Given the description of an element on the screen output the (x, y) to click on. 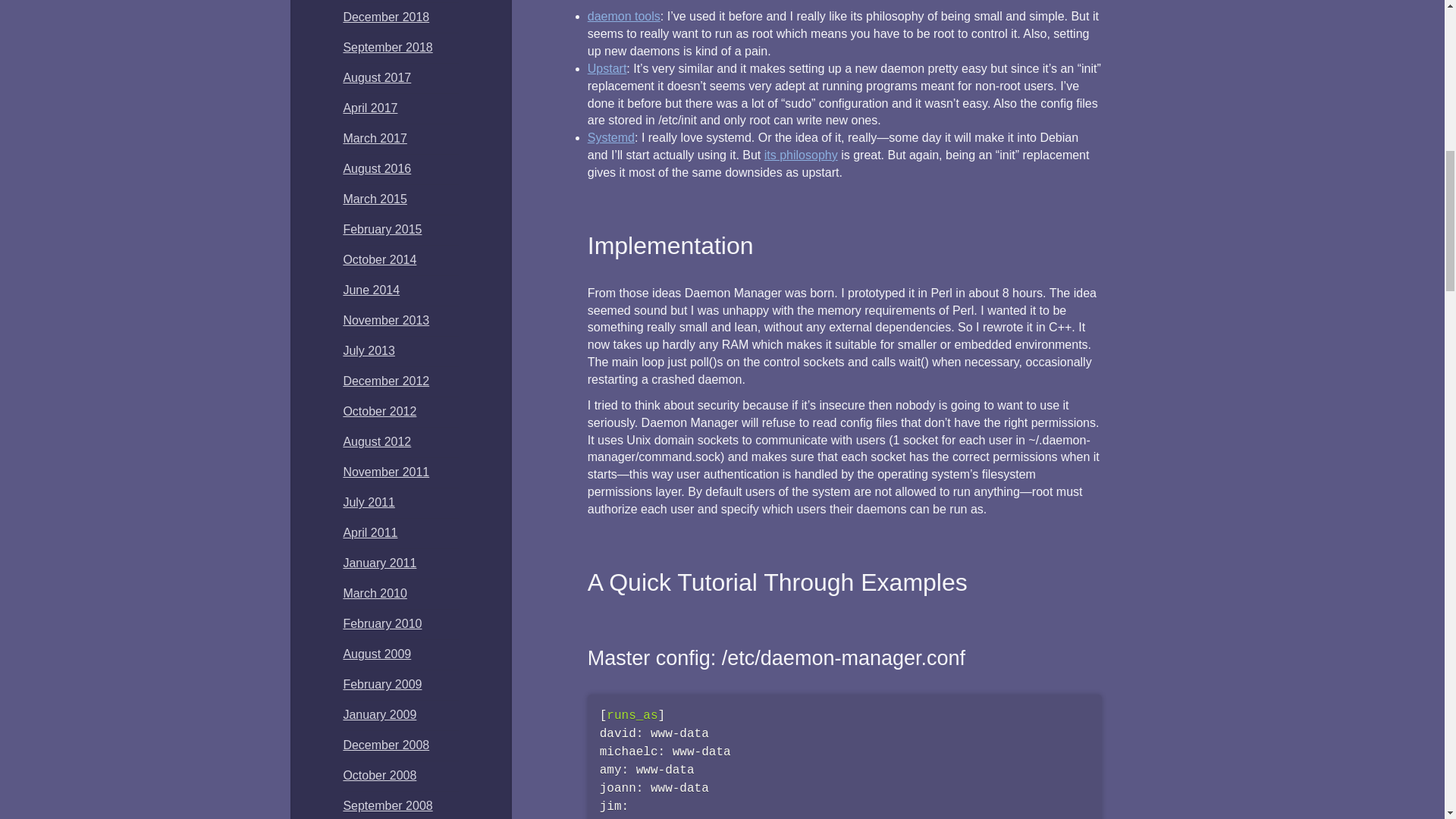
July 2013 (368, 350)
December 2018 (385, 16)
February 2015 (382, 228)
March 2015 (374, 198)
October 2014 (379, 259)
April 2017 (369, 107)
September 2018 (387, 47)
August 2016 (376, 168)
August 2017 (376, 77)
November 2013 (385, 319)
March 2017 (374, 137)
June 2014 (370, 289)
